Given the description of an element on the screen output the (x, y) to click on. 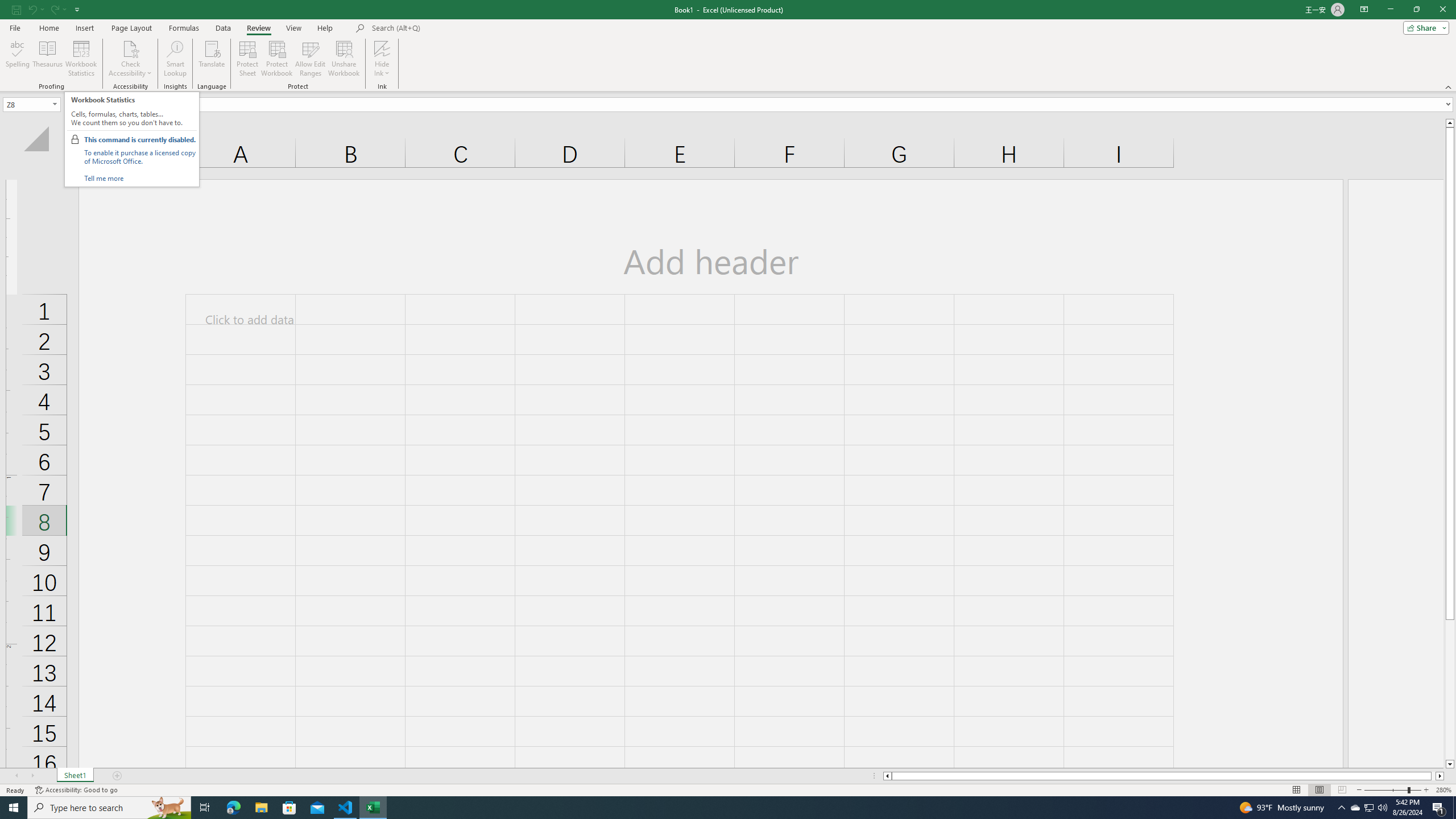
Spelling... (17, 58)
